Given the description of an element on the screen output the (x, y) to click on. 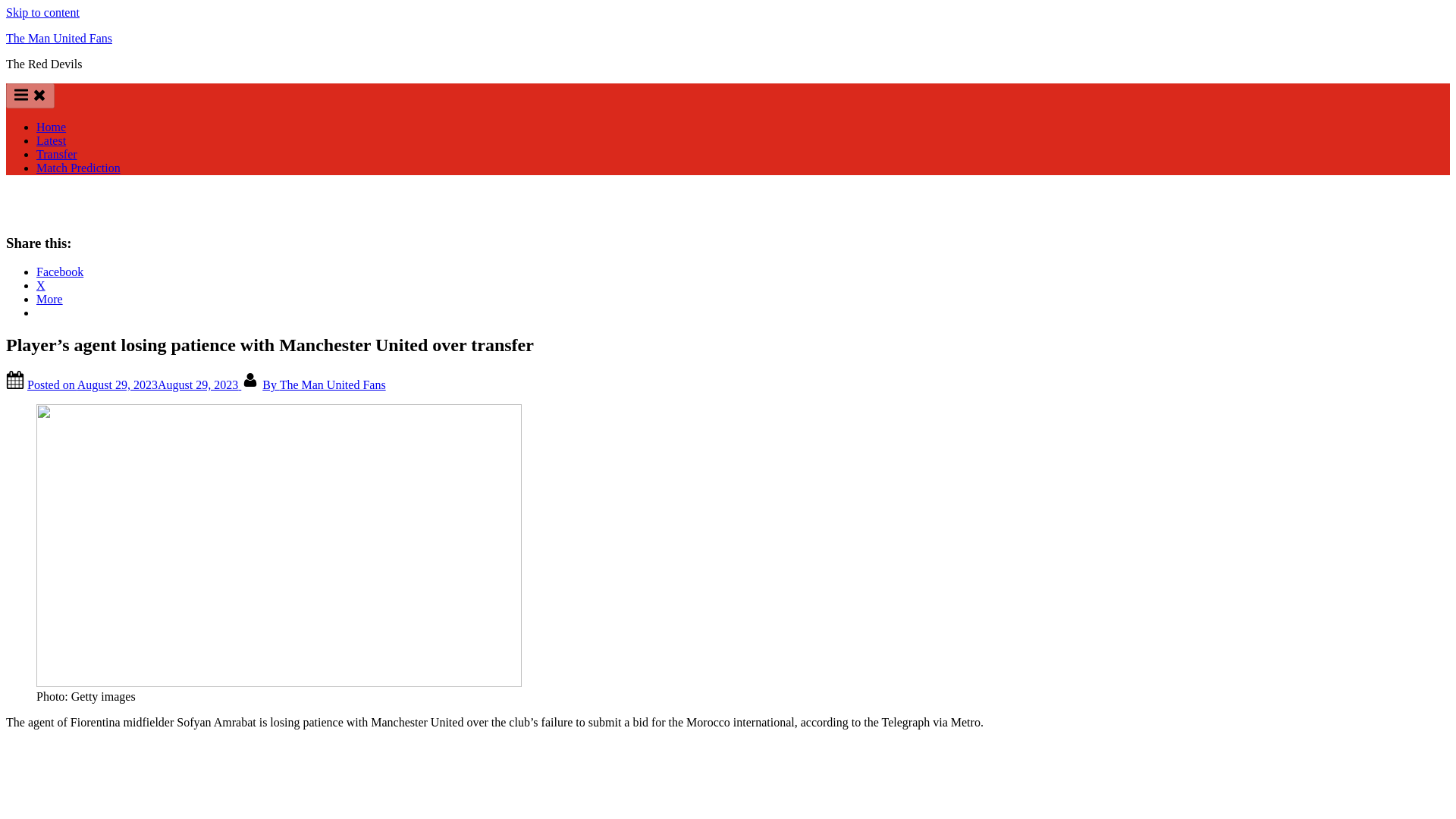
Home (50, 126)
Posted on August 29, 2023August 29, 2023 (134, 384)
Transfer (56, 154)
By The Man United Fans (323, 384)
X (40, 285)
Click to share on X (40, 285)
Latest (50, 140)
More (49, 298)
Facebook (59, 271)
Click to share on Facebook (59, 271)
Skip to content (42, 11)
Match Prediction (78, 167)
The Man United Fans (58, 38)
